Given the description of an element on the screen output the (x, y) to click on. 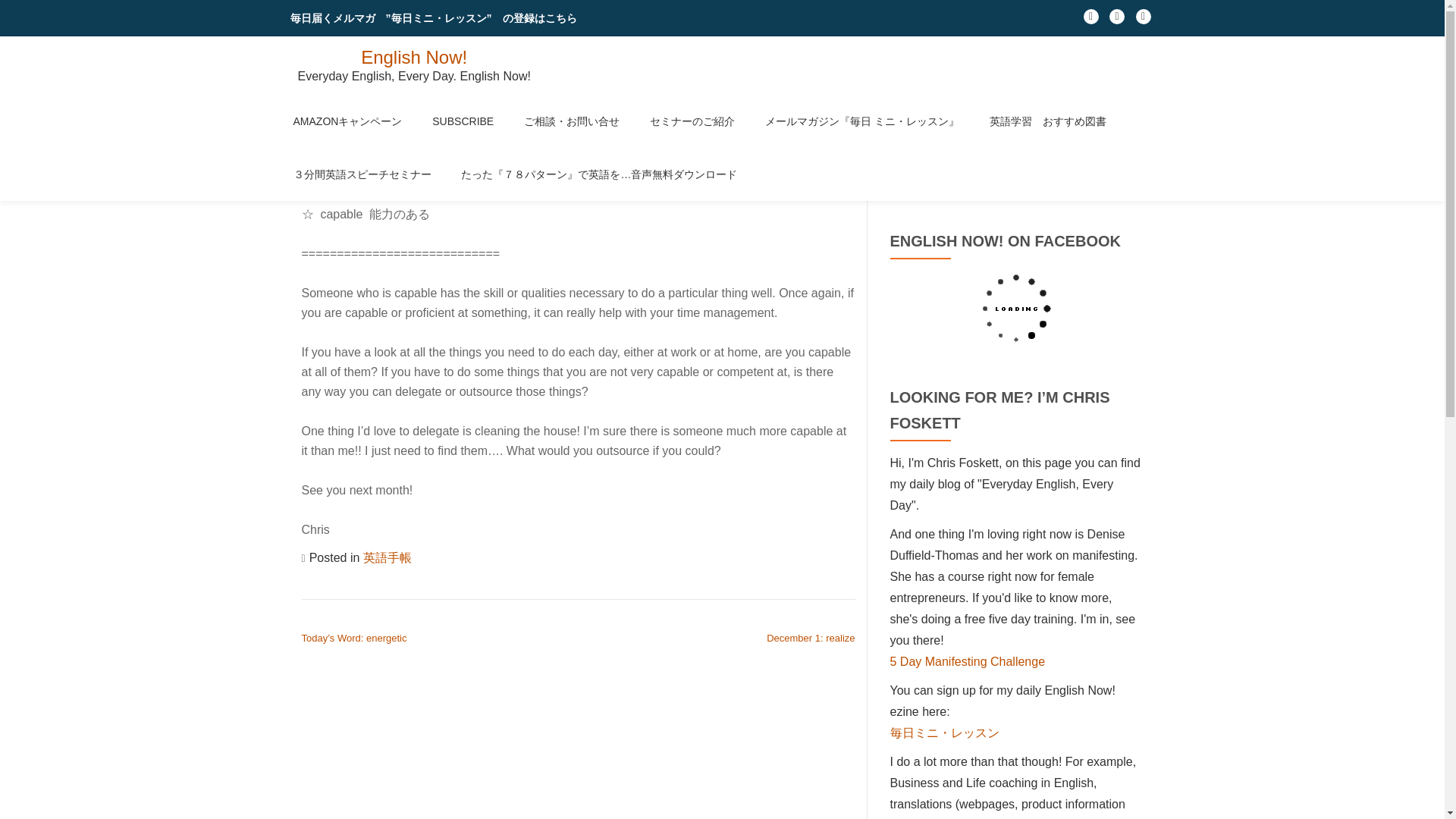
No comments (799, 138)
fa-facebook (1091, 19)
5 Day Manifesting Challenge (967, 661)
fa-instagram (1116, 19)
English Now! (414, 56)
Search (1122, 164)
Chris (329, 138)
Search (1122, 164)
SUBSCRIBE (462, 120)
English Now! (414, 56)
fa-amazon (1143, 19)
December 1: realize (810, 637)
Search (1122, 164)
